Given the description of an element on the screen output the (x, y) to click on. 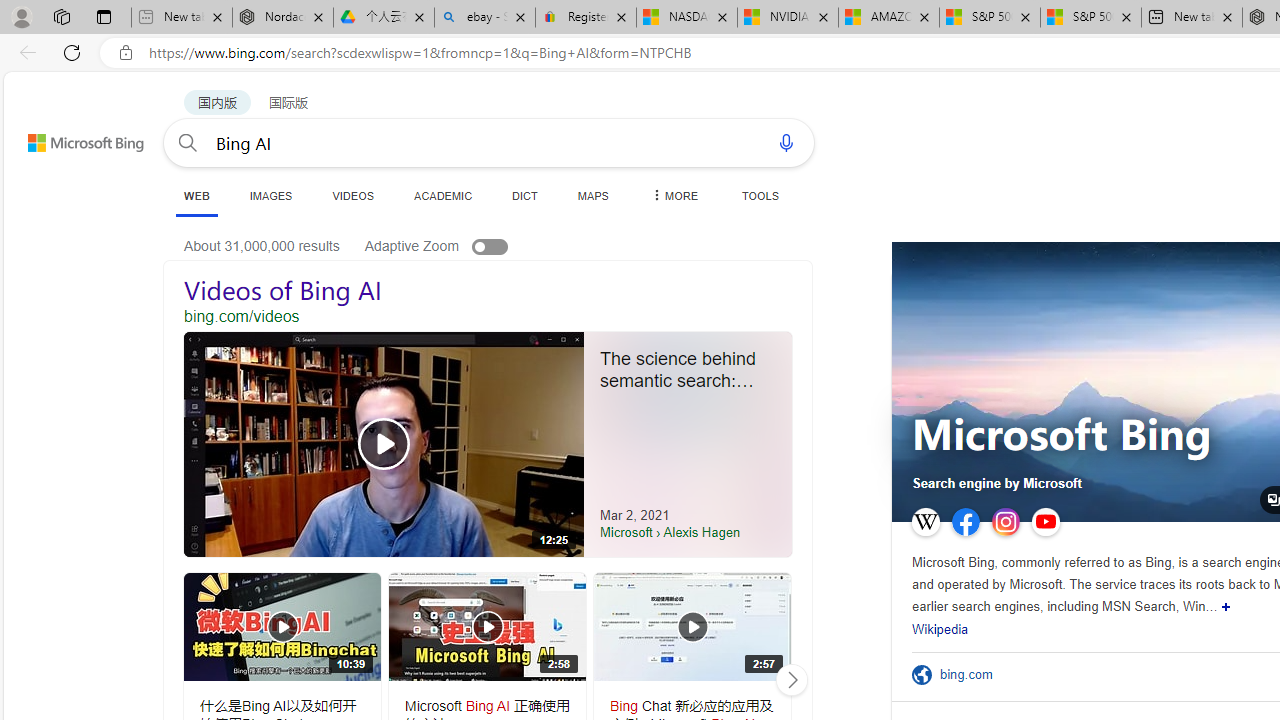
Register: Create a personal eBay account (586, 17)
MAPS (592, 195)
Adaptive Zoom (456, 245)
ACADEMIC (443, 195)
Class: sp-ofsite (921, 674)
YouTube (1045, 521)
Search button (187, 142)
Show more (1226, 606)
